Given the description of an element on the screen output the (x, y) to click on. 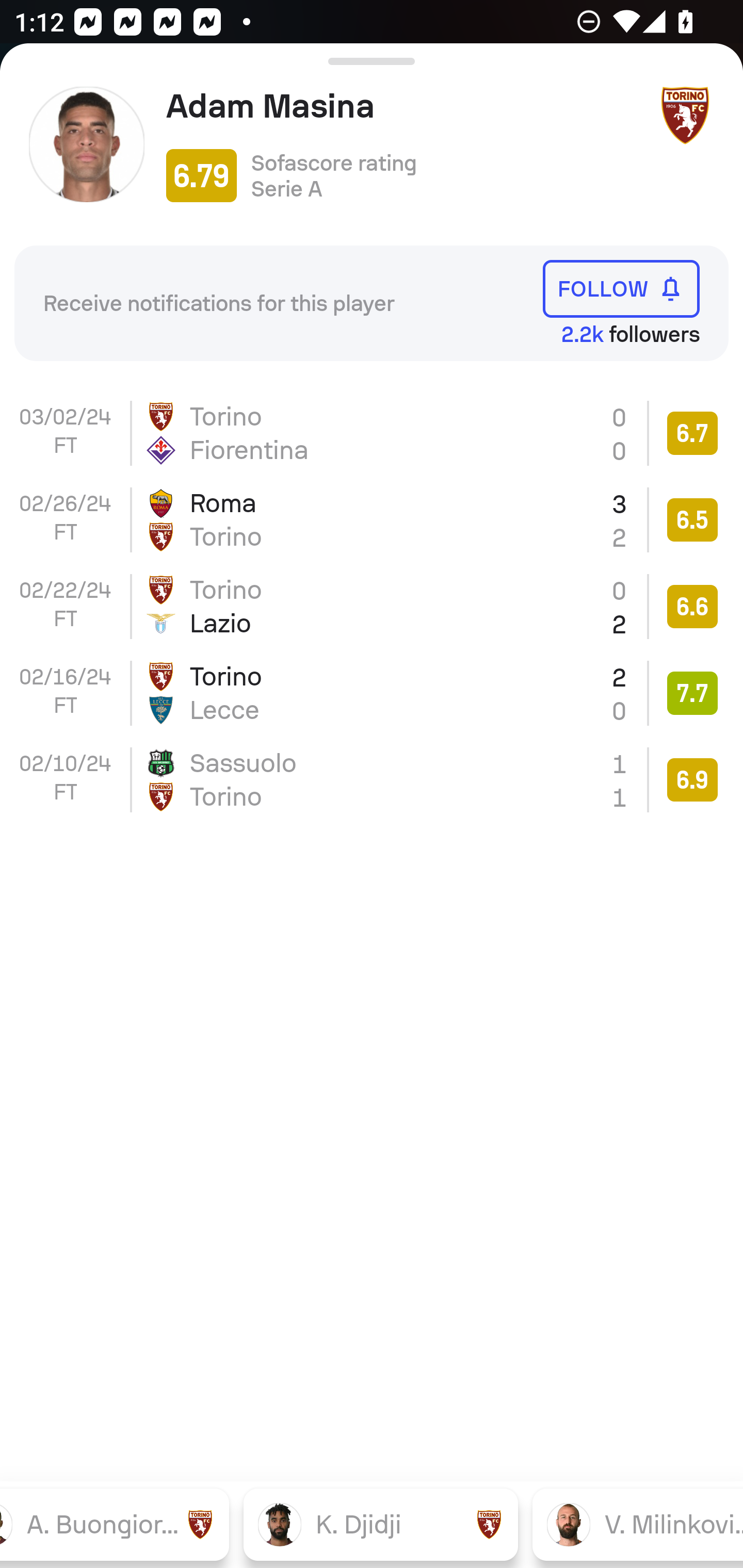
Adam Masina (403, 105)
FOLLOW (621, 289)
03/02/24 FT Torino 0 Fiorentina 0 6.7 (371, 433)
02/26/24 FT Roma 3 Torino 2 6.5 (371, 519)
02/22/24 FT Torino 0 Lazio 2 6.6 (371, 605)
02/16/24 FT Torino 2 Lecce 0 7.7 (371, 692)
02/10/24 FT Sassuolo 1 Torino 1 6.9 (371, 779)
A. Buongiorno (114, 1524)
K. Djidji (380, 1524)
V. Milinković-Savić (637, 1524)
